Given the description of an element on the screen output the (x, y) to click on. 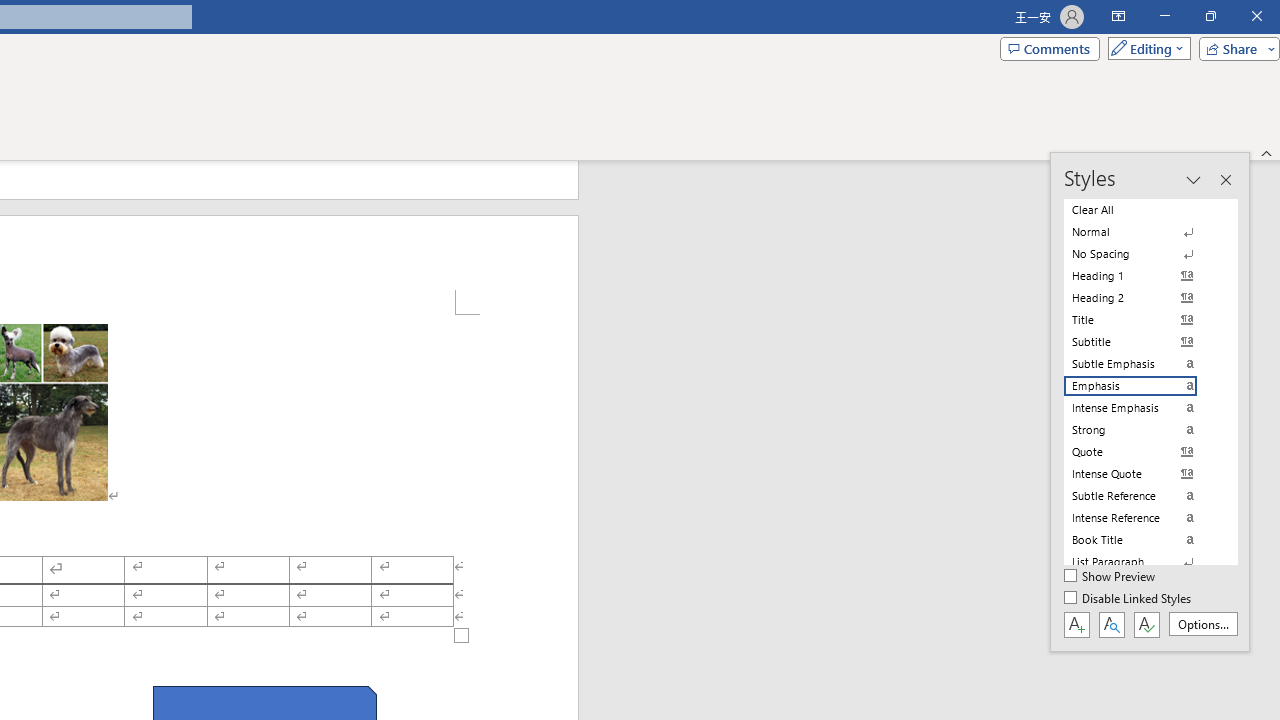
Class: NetUIButton (1146, 624)
List Paragraph (1142, 561)
Options... (1202, 623)
